Given the description of an element on the screen output the (x, y) to click on. 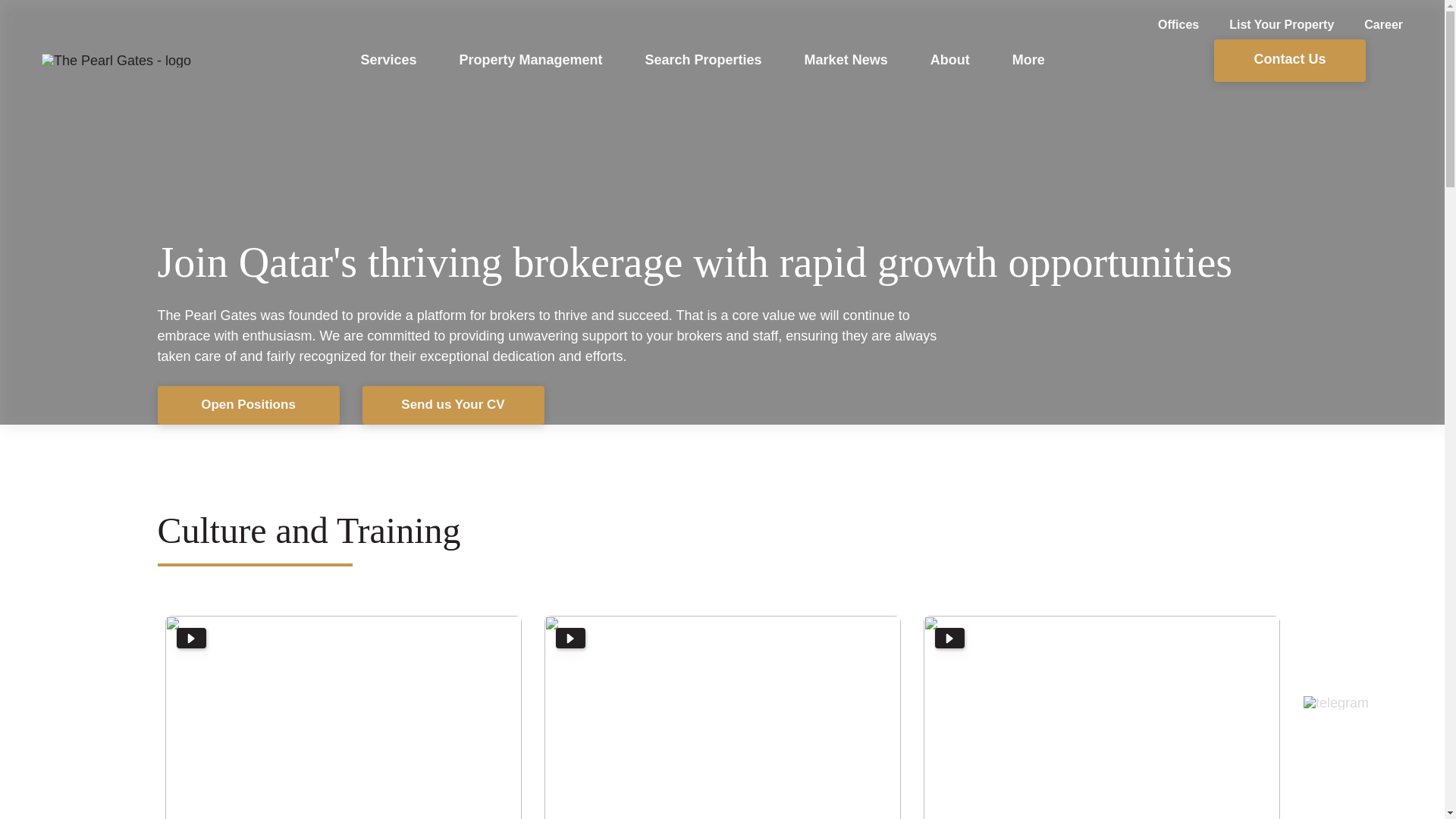
Offices (1162, 25)
Career (1368, 25)
Services (387, 59)
List Your Property (1265, 25)
telegram (1335, 703)
